Given the description of an element on the screen output the (x, y) to click on. 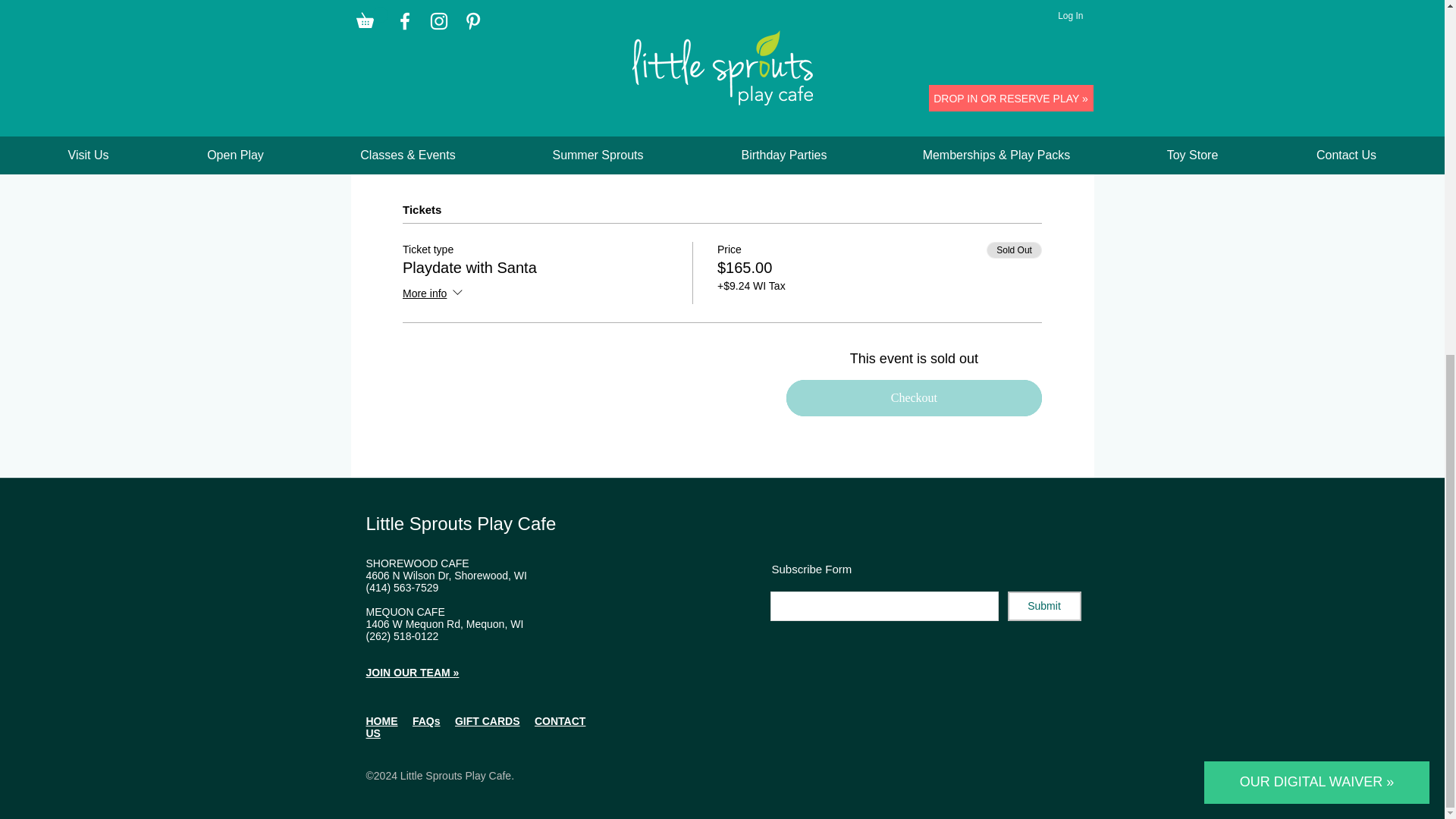
GIFT CARDS (486, 720)
More info (434, 293)
Submit (1043, 605)
FAQs (426, 720)
CONTACT US (475, 726)
HOME (381, 720)
Checkout (914, 398)
Little Sprouts Play Cafe (460, 523)
